Given the description of an element on the screen output the (x, y) to click on. 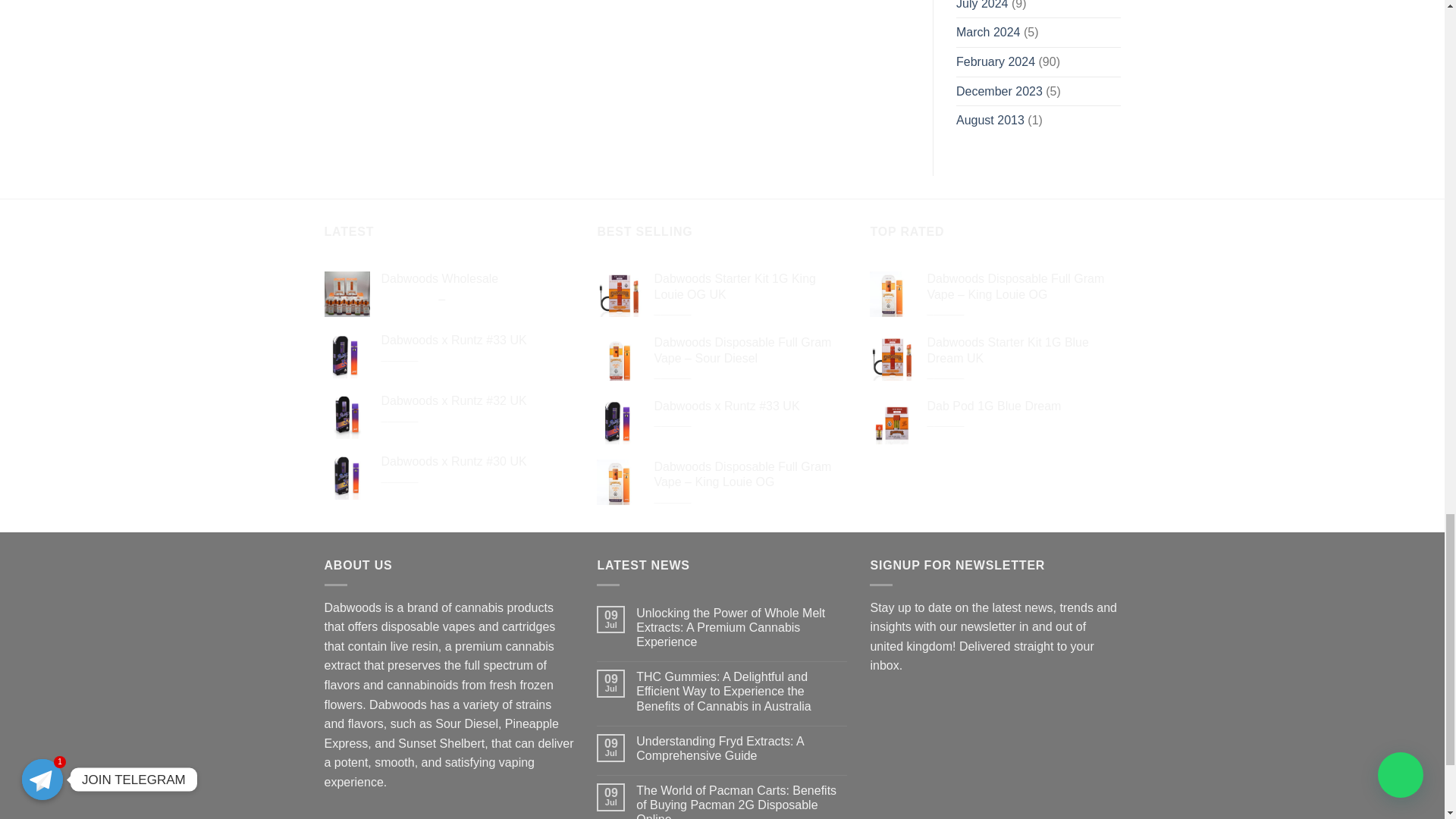
Understanding Fryd Extracts: A Comprehensive Guide (741, 747)
